Given the description of an element on the screen output the (x, y) to click on. 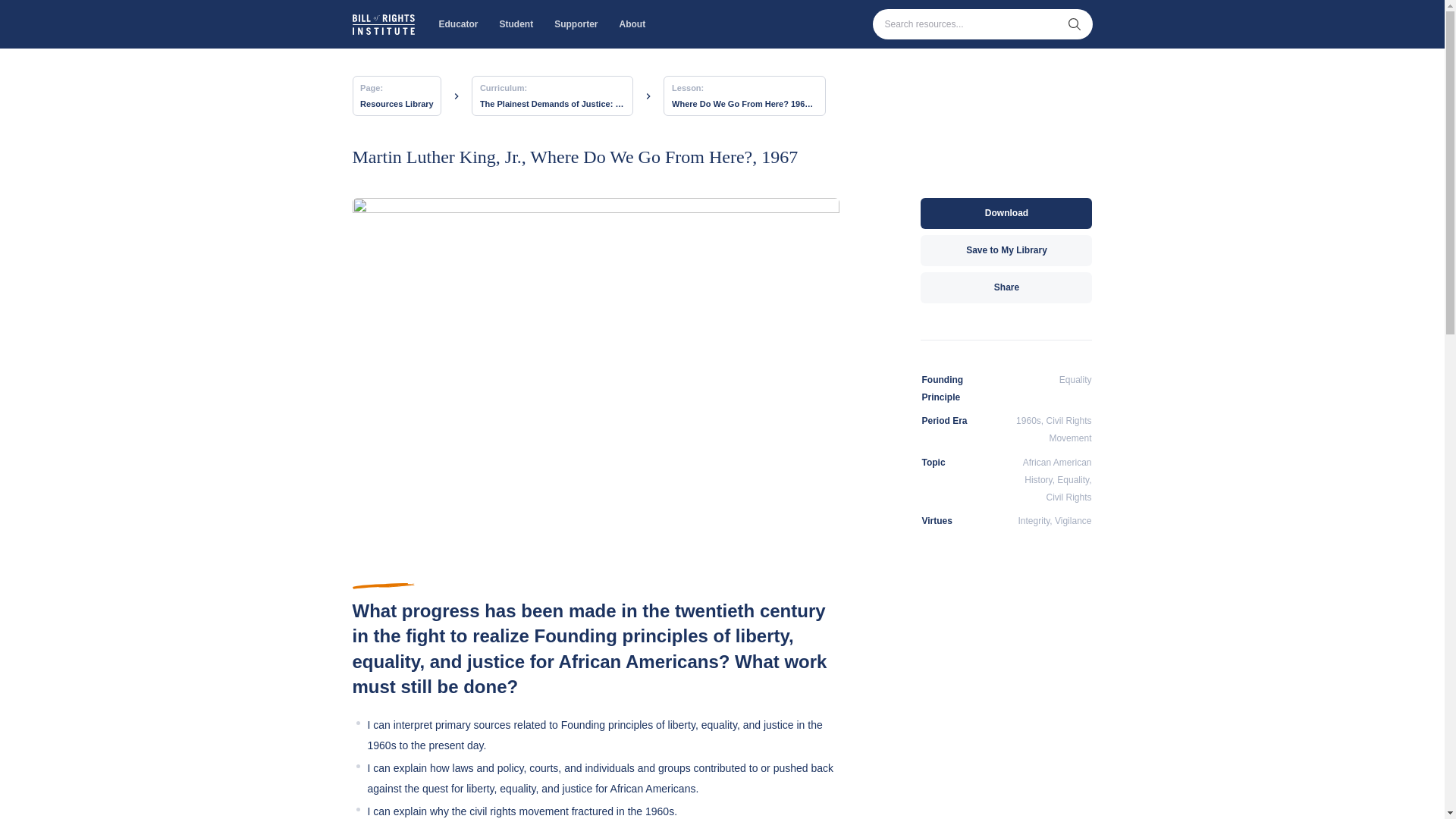
Submit Search Query. (1073, 24)
Educator (457, 24)
Student (516, 24)
